Given the description of an element on the screen output the (x, y) to click on. 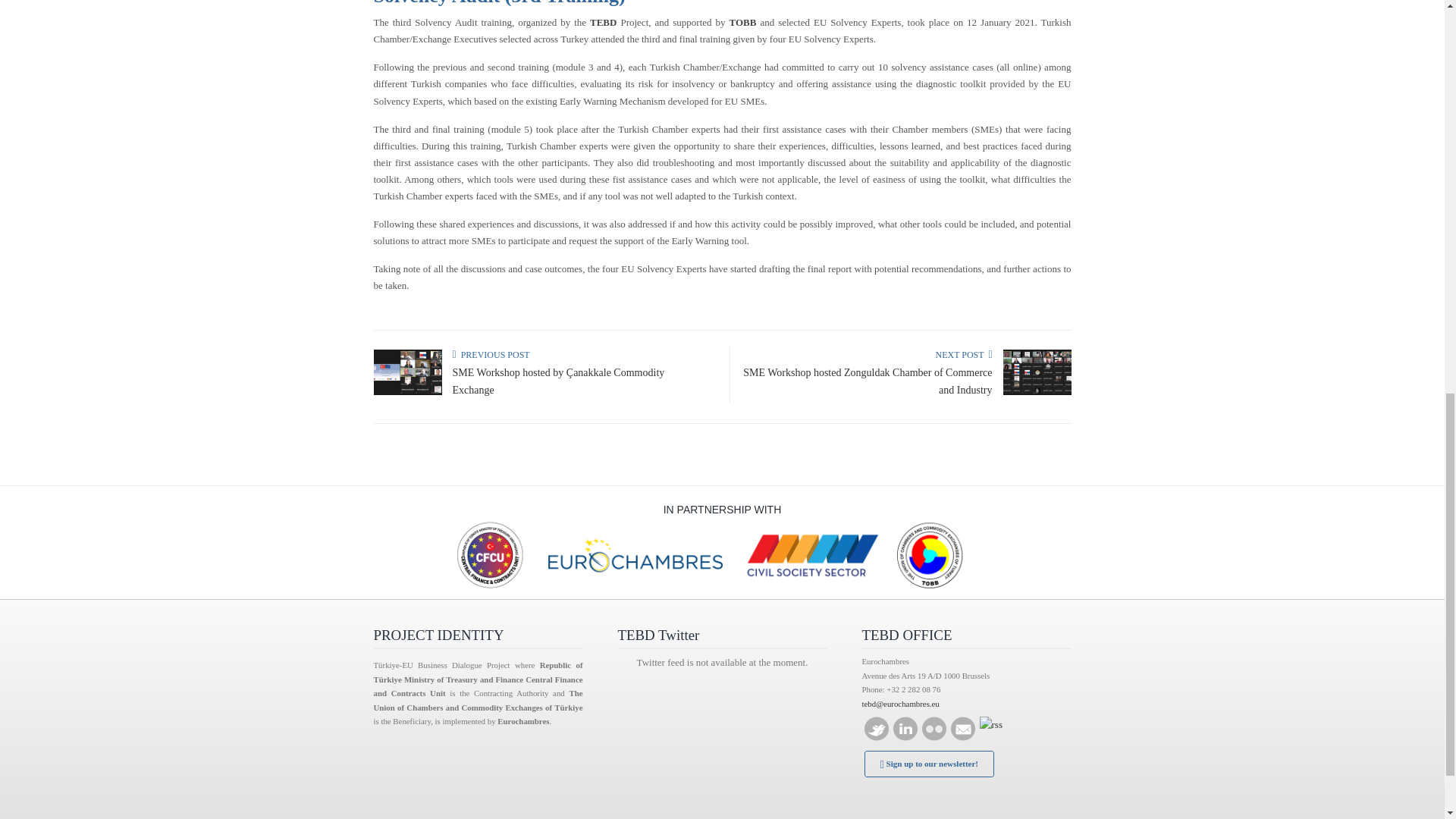
 PREVIOUS POST (490, 354)
Go to next post (962, 354)
Go to previous post (490, 354)
